Given the description of an element on the screen output the (x, y) to click on. 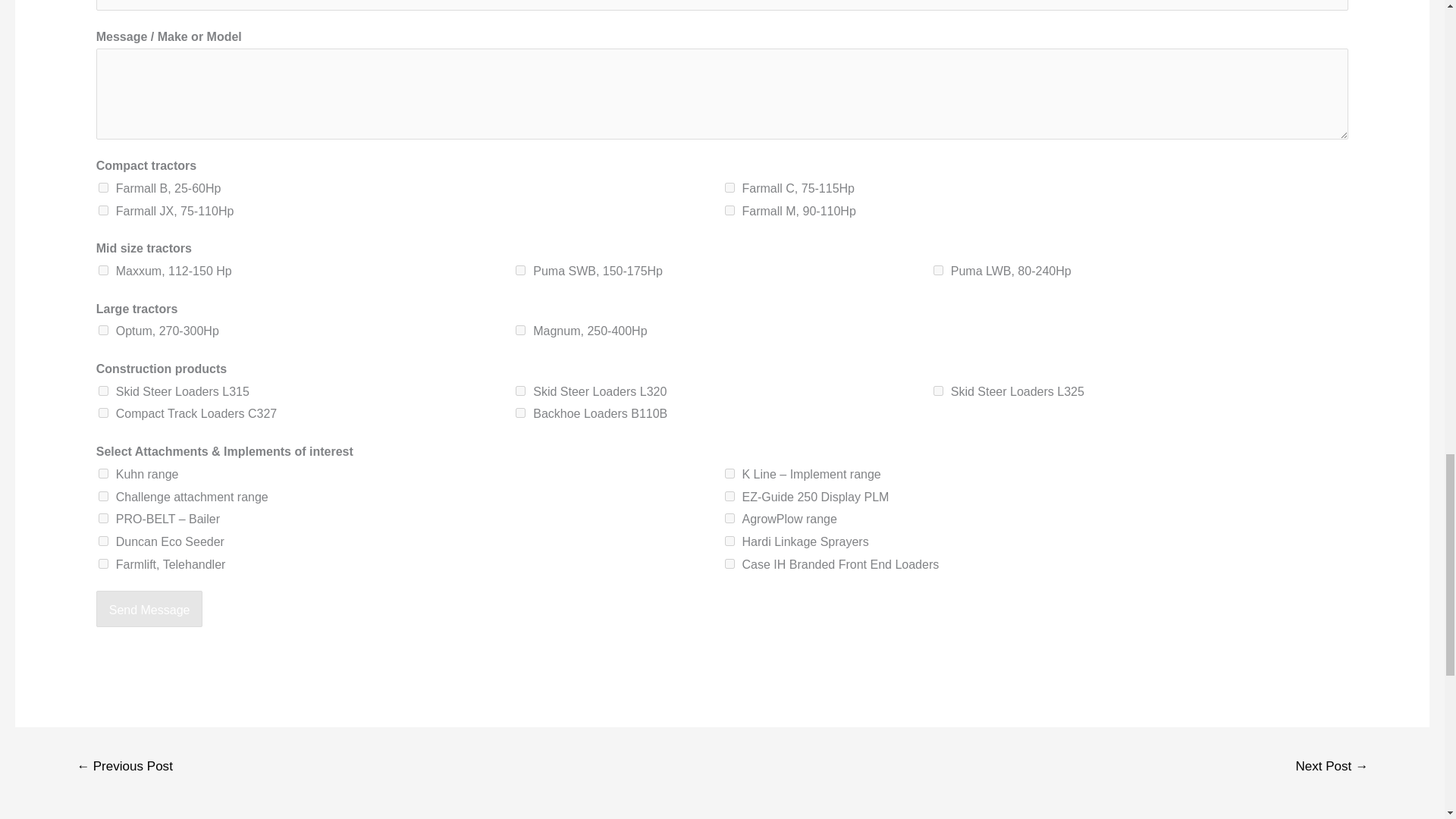
Optum, 270-300Hp (103, 329)
Skid Steer Loaders L320 (520, 390)
Puma SWB, 150-175Hp (520, 270)
Farmall JX, 75-110Hp (103, 210)
Skid Steer Loaders L325 (938, 390)
Compact Track Loaders C327 (103, 412)
Farmall C, 75-115Hp (730, 187)
Backhoe Loaders B110B (520, 412)
Farmall M, 90-110Hp (730, 210)
Puma LWB, 80-240Hp (938, 270)
Farmall B, 25-60Hp (103, 187)
Magnum, 250-400Hp (520, 329)
Skid Steer Loaders L315 (103, 390)
Maxxum, 112-150 Hp (103, 270)
